Given the description of an element on the screen output the (x, y) to click on. 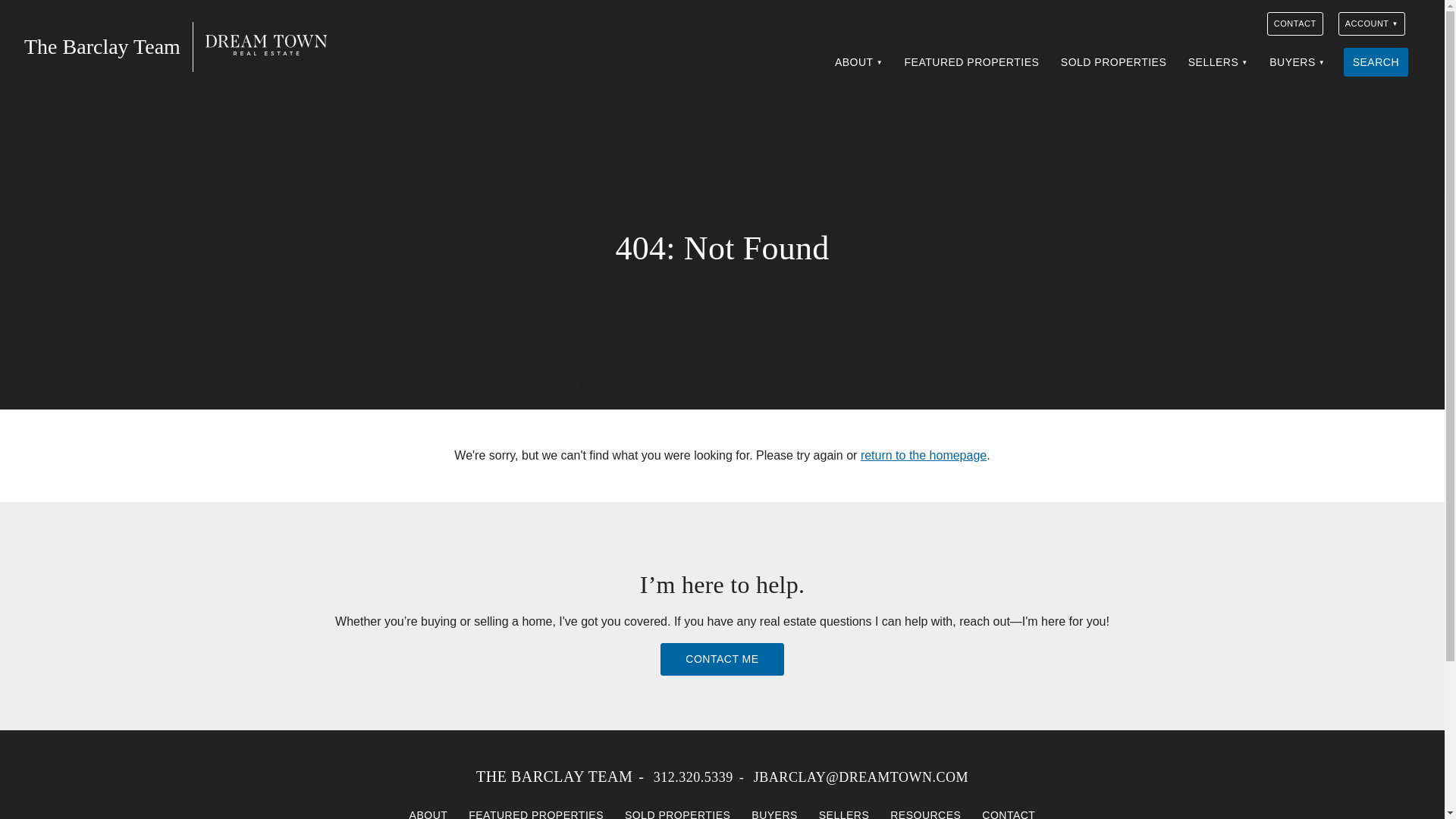
SEARCH (1375, 61)
return to the homepage (923, 454)
CONTACT ME (722, 658)
SOLD PROPERTIES (1113, 61)
SELLERS (1218, 61)
RESOURCES (924, 809)
BUYERS (1296, 61)
ABOUT (428, 809)
The Barclay Team (229, 46)
ABOUT (858, 61)
